Given the description of an element on the screen output the (x, y) to click on. 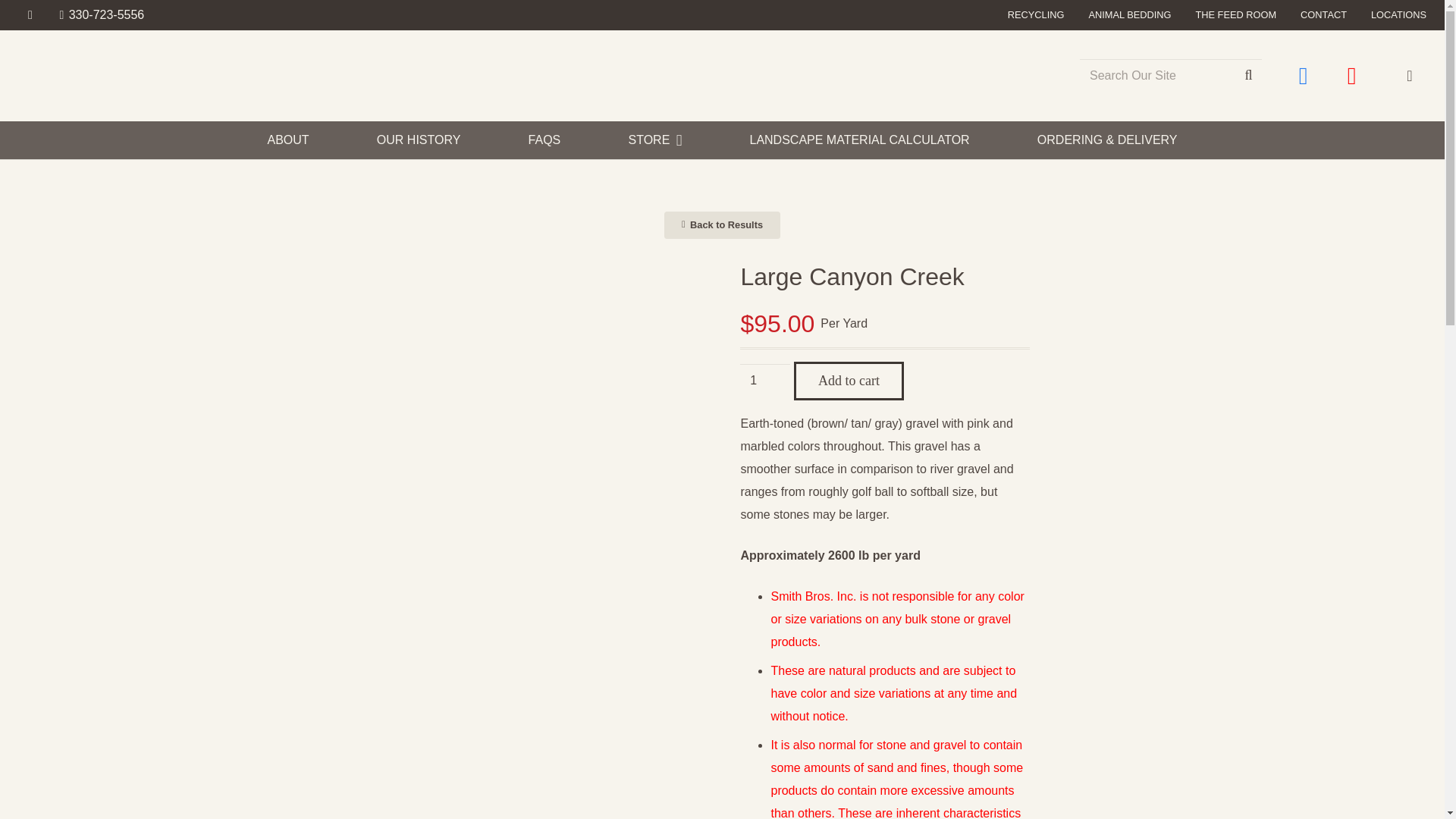
Qty (764, 380)
CONTACT (1323, 14)
LOCATIONS (1398, 14)
ABOUT (287, 139)
STORE (654, 139)
YouTube (1351, 75)
OUR HISTORY (418, 139)
FAQS (544, 139)
LANDSCAPE MATERIAL CALCULATOR (858, 139)
Facebook (1303, 75)
Email (29, 15)
ANIMAL BEDDING (1128, 14)
330-723-5556 (101, 14)
THE FEED ROOM (1235, 14)
RECYCLING (1035, 14)
